Given the description of an element on the screen output the (x, y) to click on. 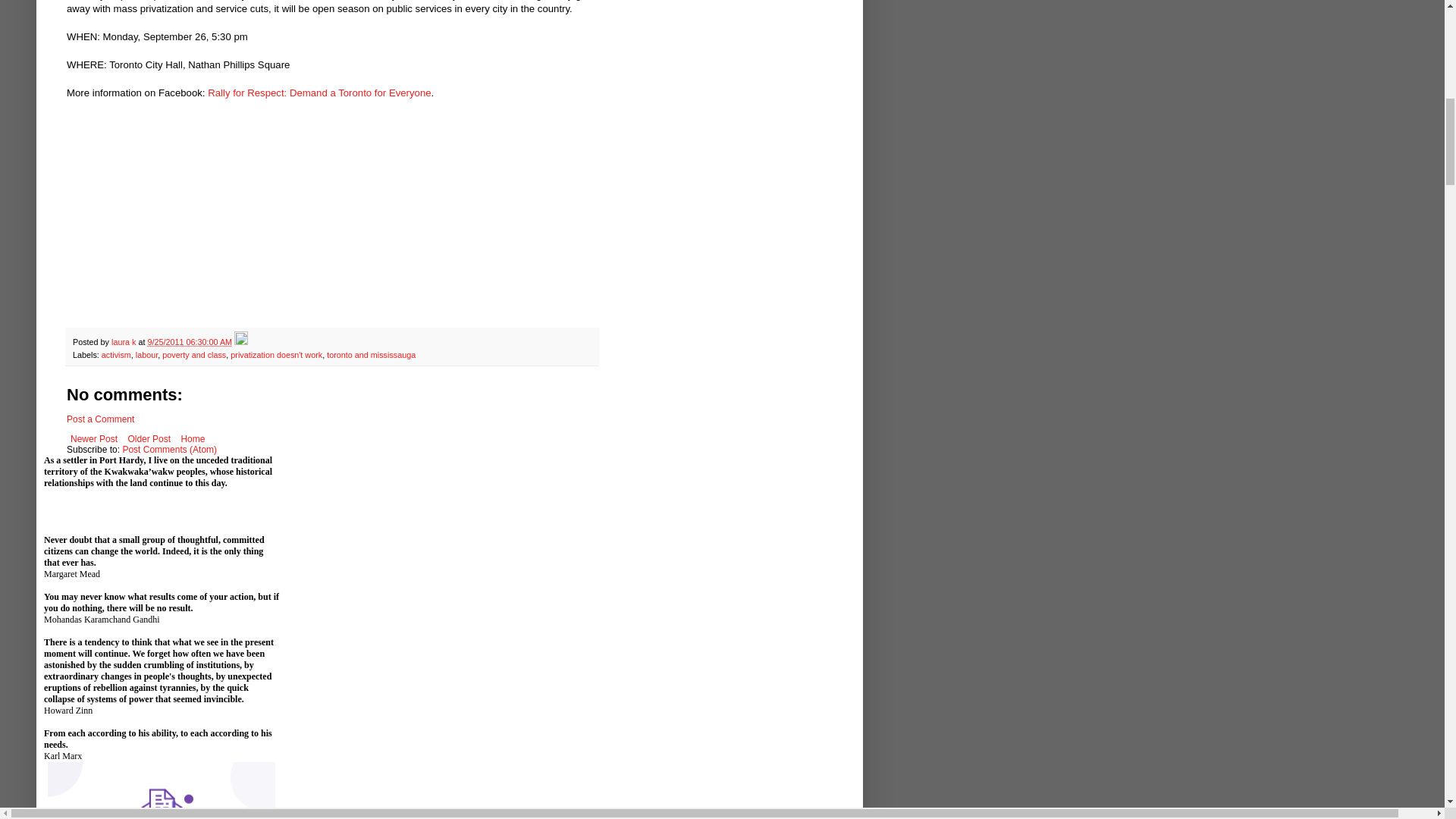
Older Post (148, 438)
laura k (125, 341)
labour (146, 354)
Edit Post (240, 341)
poverty and class (193, 354)
toronto and mississauga (370, 354)
Post a Comment (99, 419)
Home (192, 438)
privatization doesn't work (275, 354)
activism (116, 354)
Newer Post (93, 438)
Older Post (148, 438)
author profile (125, 341)
permanent link (189, 341)
Rally for Respect: Demand a Toronto for Everyone (319, 92)
